Given the description of an element on the screen output the (x, y) to click on. 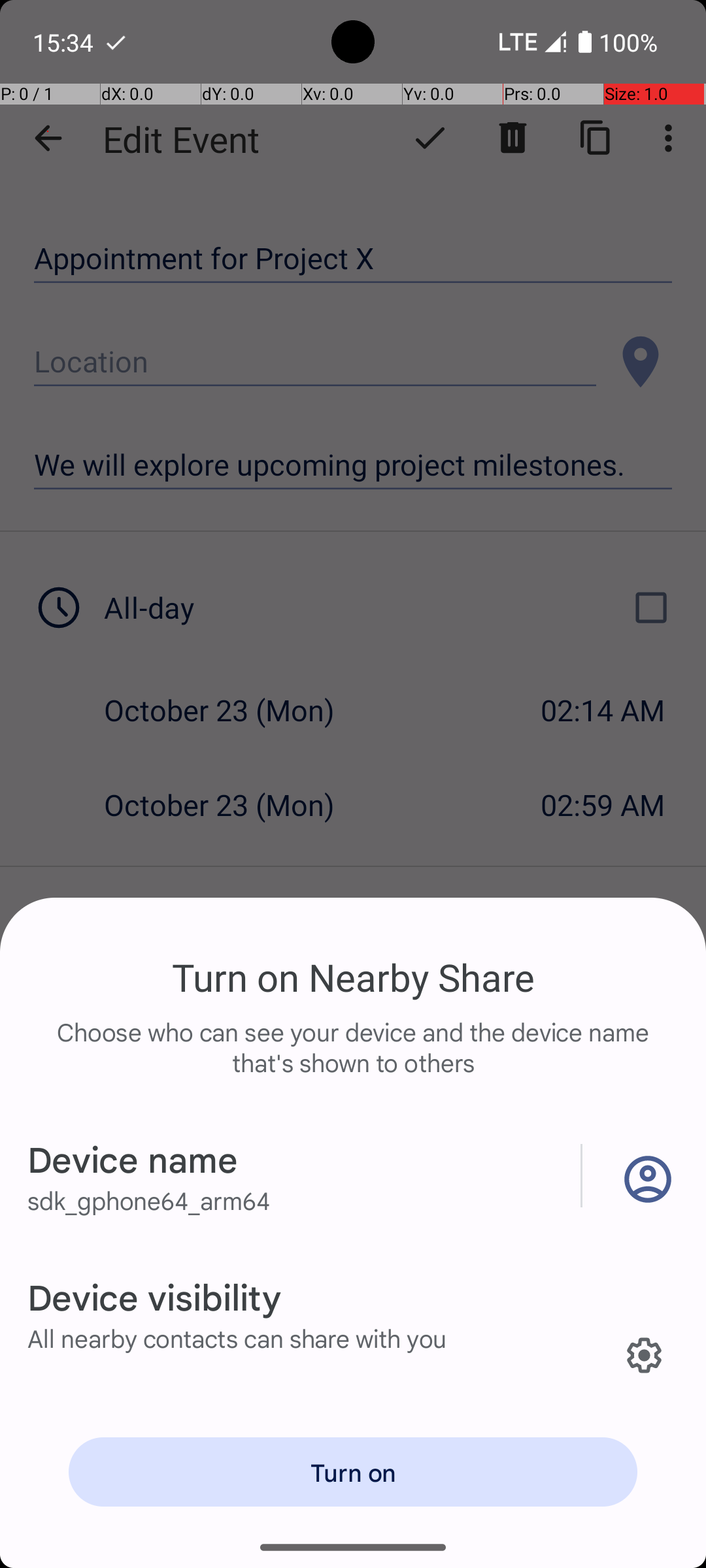
Turn on Nearby Share Element type: android.widget.TextView (353, 976)
Choose who can see your device and the device name that's shown to others Element type: android.widget.TextView (353, 1060)
No account found Element type: android.widget.FrameLayout (644, 1175)
Turn on Element type: android.widget.Button (352, 1471)
Device name Element type: android.widget.TextView (132, 1158)
Device visibility Element type: android.widget.TextView (154, 1296)
All nearby contacts can share with you Element type: android.widget.TextView (237, 1338)
